Given the description of an element on the screen output the (x, y) to click on. 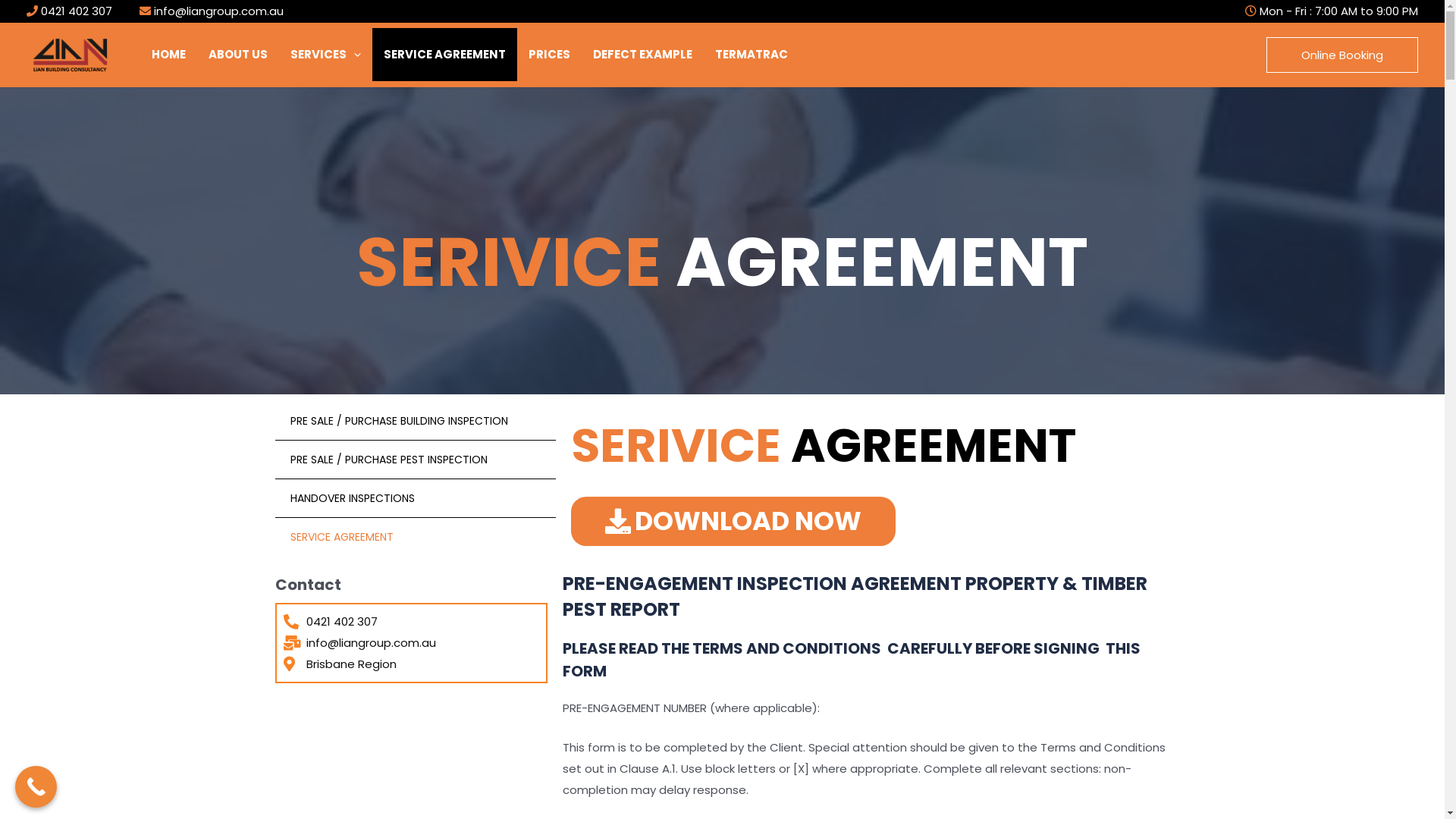
SERVICE AGREEMENT Element type: text (444, 54)
ABOUT US Element type: text (238, 54)
SERVICES Element type: text (325, 54)
info@liangroup.com.au Element type: text (411, 642)
0421 402 307 Element type: text (411, 621)
Online Booking Element type: text (1342, 54)
TERMATRAC Element type: text (751, 54)
0421 402 307 Element type: text (74, 10)
DOWNLOAD NOW Element type: text (733, 521)
info@liangroup.com.au Element type: text (218, 10)
HANDOVER INSPECTIONS Element type: text (414, 498)
PRE SALE / PURCHASE BUILDING INSPECTION Element type: text (414, 420)
PRICES Element type: text (549, 54)
DEFECT EXAMPLE Element type: text (642, 54)
SERVICE AGREEMENT Element type: text (414, 536)
HOME Element type: text (168, 54)
PRE SALE / PURCHASE PEST INSPECTION Element type: text (414, 459)
